Given the description of an element on the screen output the (x, y) to click on. 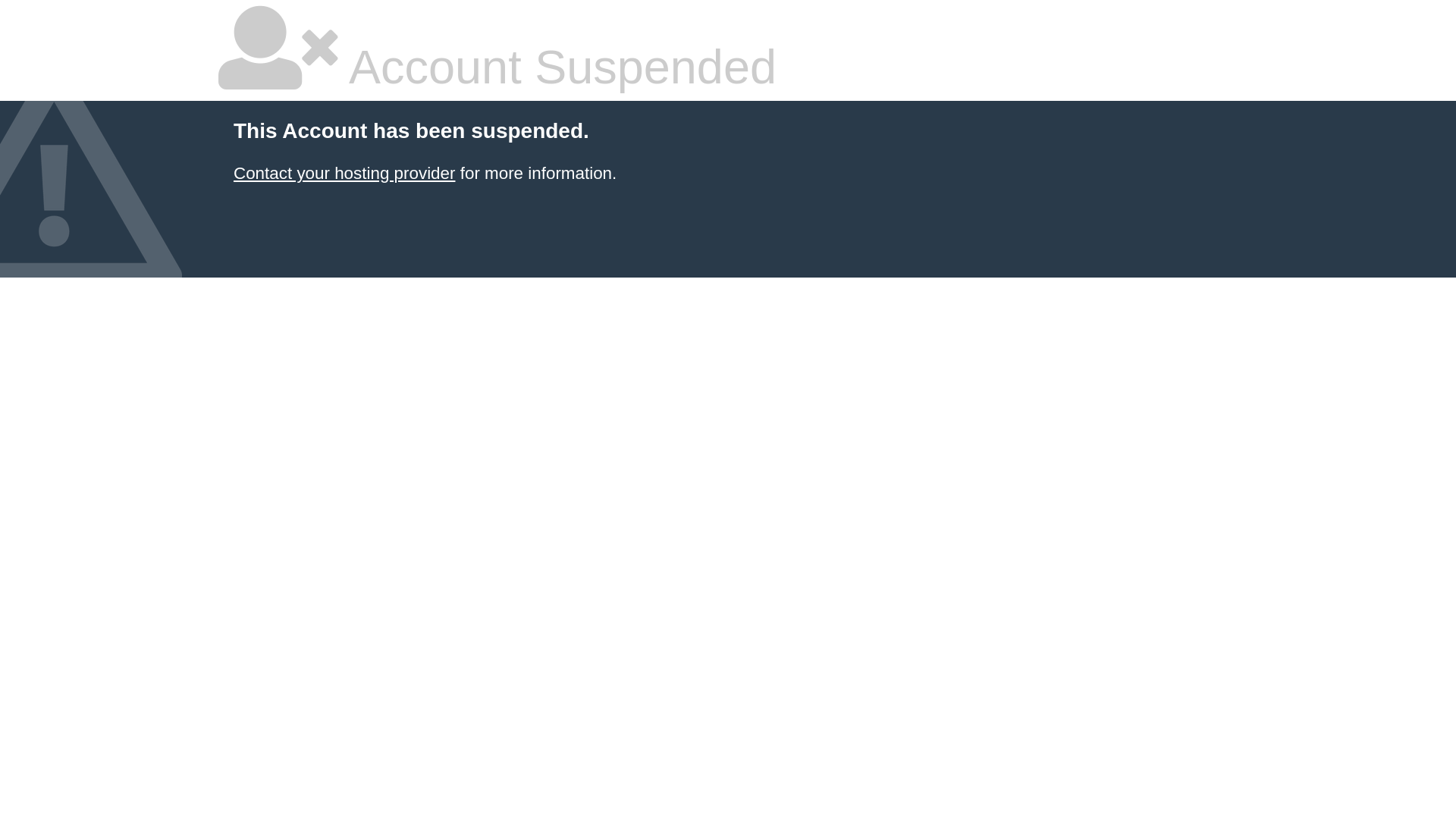
Contact your hosting provider Element type: text (344, 172)
